Given the description of an element on the screen output the (x, y) to click on. 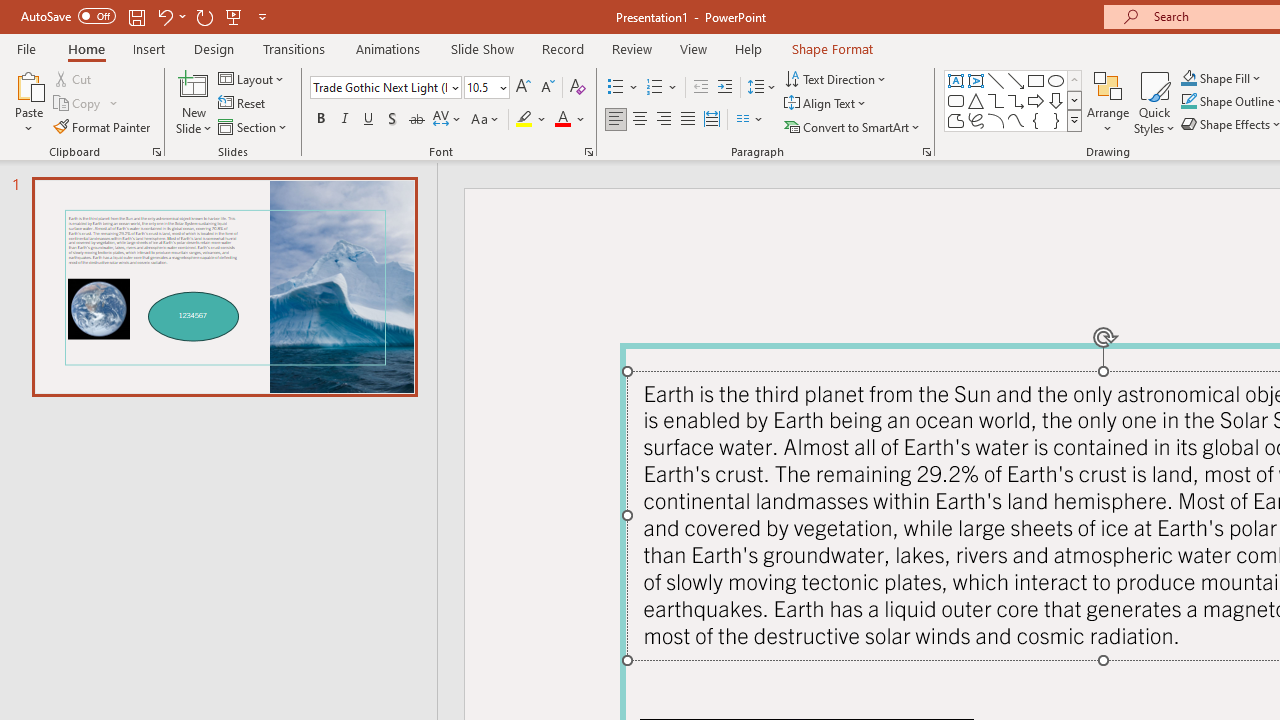
Shape Outline Teal, Accent 1 (1188, 101)
Shape Fill Aqua, Accent 2 (1188, 78)
